Given the description of an element on the screen output the (x, y) to click on. 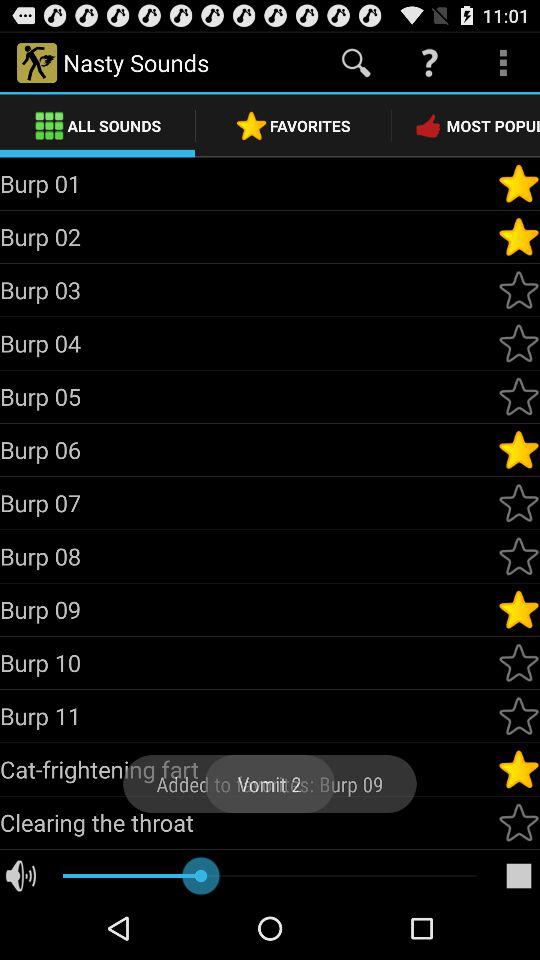
add or remove from favorites (519, 450)
